Given the description of an element on the screen output the (x, y) to click on. 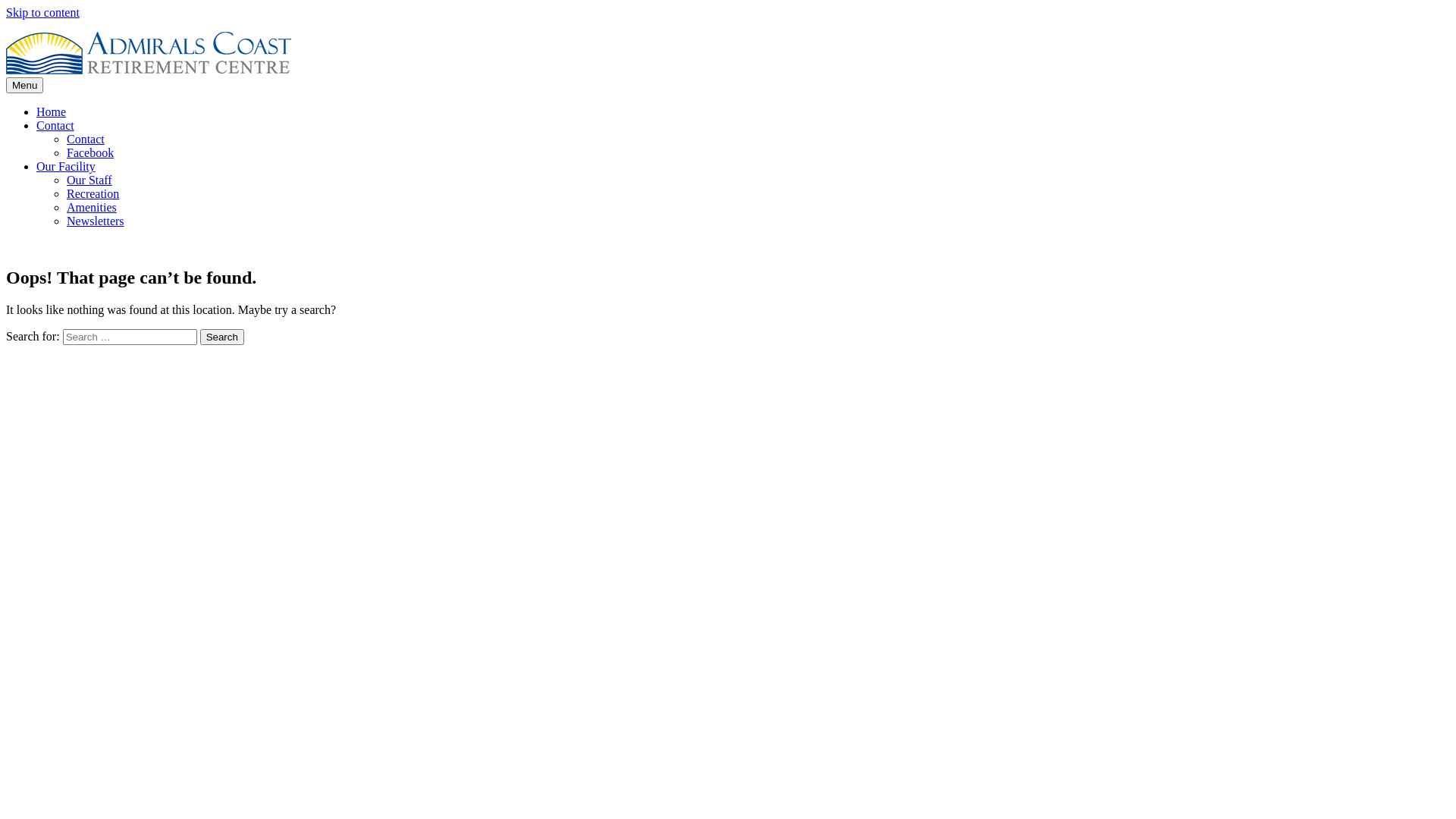
Amenities Element type: text (91, 206)
Menu Element type: text (24, 85)
Our Staff Element type: text (89, 179)
Search Element type: text (222, 337)
Newsletters Element type: text (95, 220)
Contact Element type: text (85, 138)
Search for: Element type: hover (129, 337)
Recreation Element type: text (92, 193)
Contact Element type: text (55, 125)
Our Facility Element type: text (65, 166)
Home Element type: text (50, 111)
Facebook Element type: text (89, 152)
Skip to content Element type: text (42, 12)
